Given the description of an element on the screen output the (x, y) to click on. 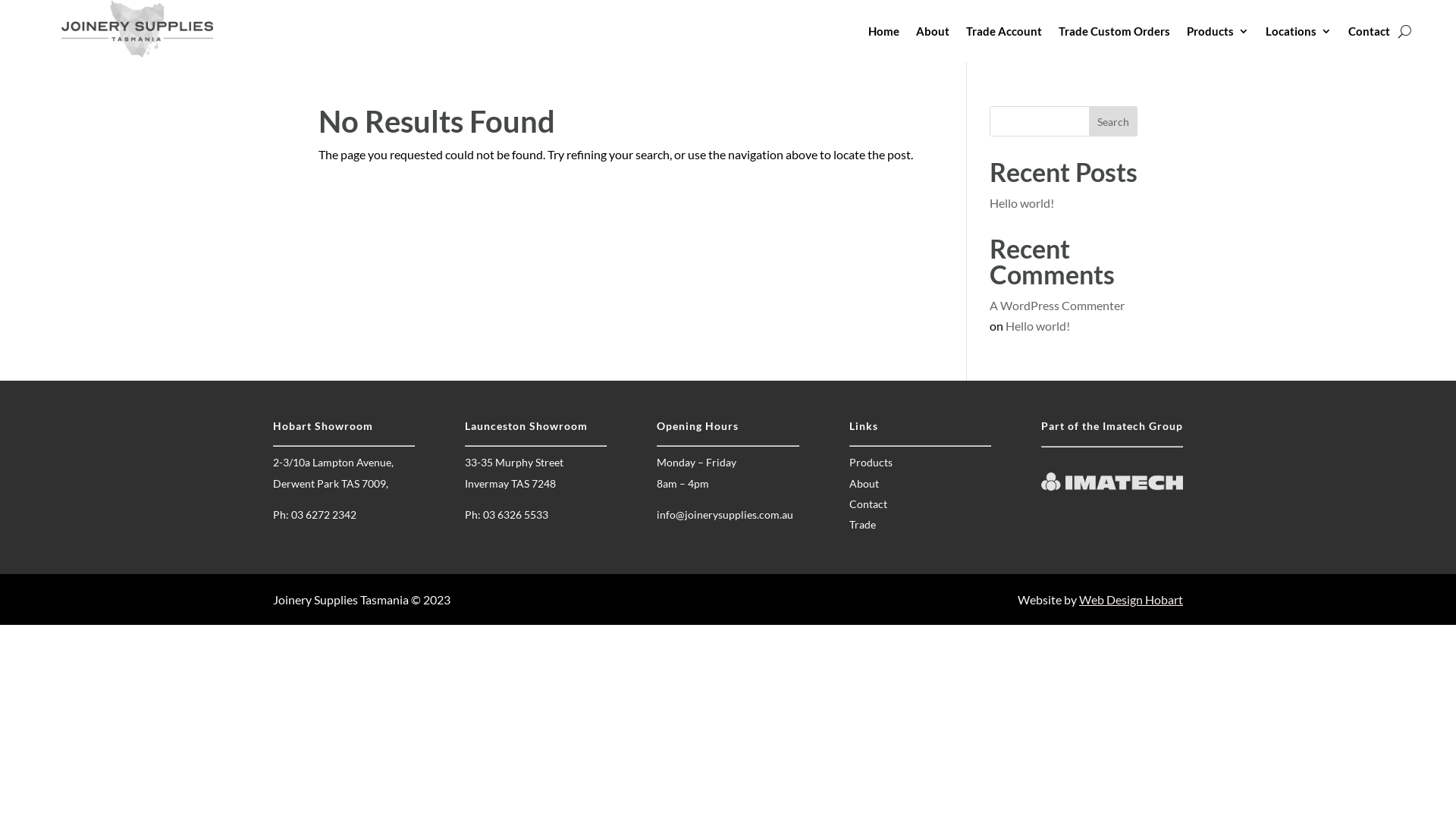
Contact Element type: text (868, 503)
Trade Element type: text (862, 523)
2-3/10a Lampton Avenue, Element type: text (333, 461)
2248-JST-Logo-Final-V2-Small-2 Element type: hover (137, 28)
Hello world! Element type: text (1021, 202)
A WordPress Commenter Element type: text (1056, 305)
Trade Custom Orders Element type: text (1114, 33)
Home Element type: text (883, 33)
Products Element type: text (1217, 33)
Contact Element type: text (1369, 33)
Derwent Park TAS 7009, Element type: text (330, 482)
Invermay TAS 7248 Element type: text (509, 482)
Search Element type: text (1112, 121)
33-35 Murphy Street Element type: text (513, 461)
imatech Element type: hover (1112, 481)
Web Design Hobart Element type: text (1131, 599)
Hello world! Element type: text (1037, 325)
About Element type: text (863, 482)
Locations Element type: text (1298, 33)
About Element type: text (932, 33)
03 6326 5533 Element type: text (515, 514)
03 6272 2342 Element type: text (323, 514)
info@joinerysupplies.com.au Element type: text (724, 514)
Trade Account Element type: text (1003, 33)
Products Element type: text (870, 461)
